Given the description of an element on the screen output the (x, y) to click on. 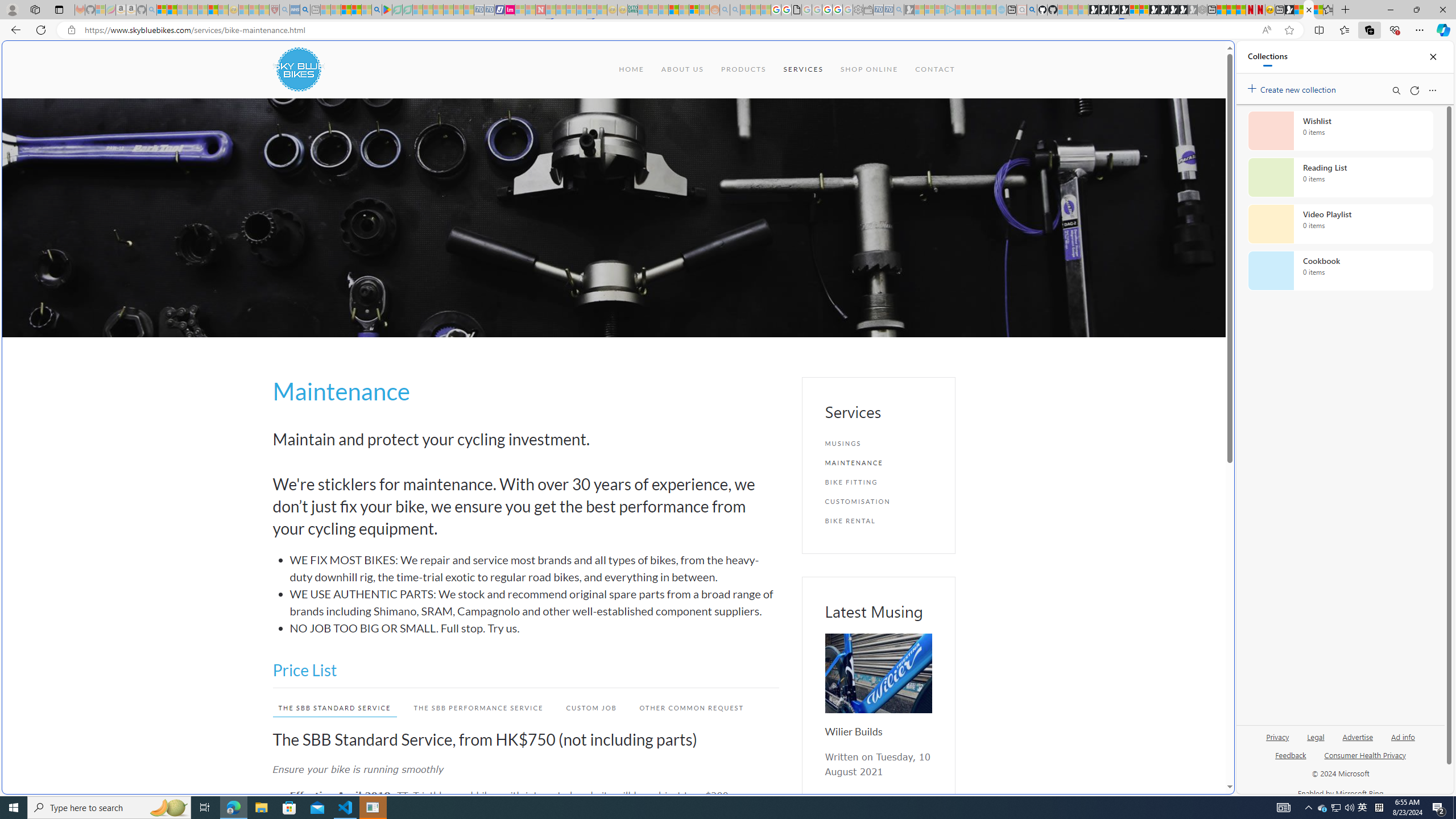
Kinda Frugal - MSN - Sleeping (684, 9)
